Given the description of an element on the screen output the (x, y) to click on. 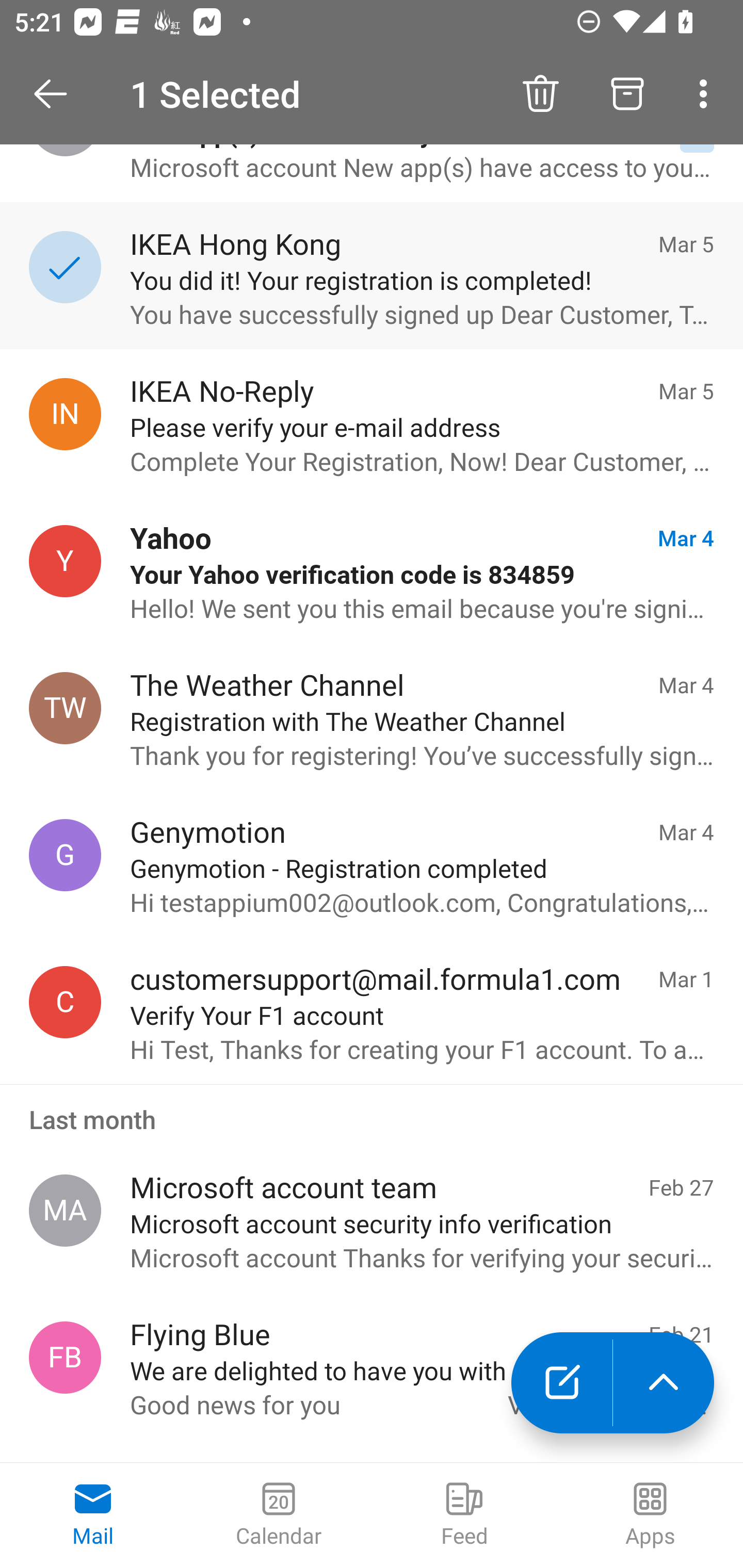
Delete (540, 93)
Archive (626, 93)
More options (706, 93)
Close Navigation Drawer (57, 94)
IKEA No-Reply, noreply@ikea.com.hk (64, 413)
Yahoo, no-reply@cc.yahoo-inc.com (64, 561)
The Weather Channel, noreply@weather.com (64, 708)
Genymotion, genymotion-activation@genymobile.com (64, 854)
Flying Blue, do_not_reply@info-flyingblue.com (64, 1357)
New mail (561, 1382)
launch the extended action menu (663, 1382)
Calendar (278, 1515)
Feed (464, 1515)
Apps (650, 1515)
